Given the description of an element on the screen output the (x, y) to click on. 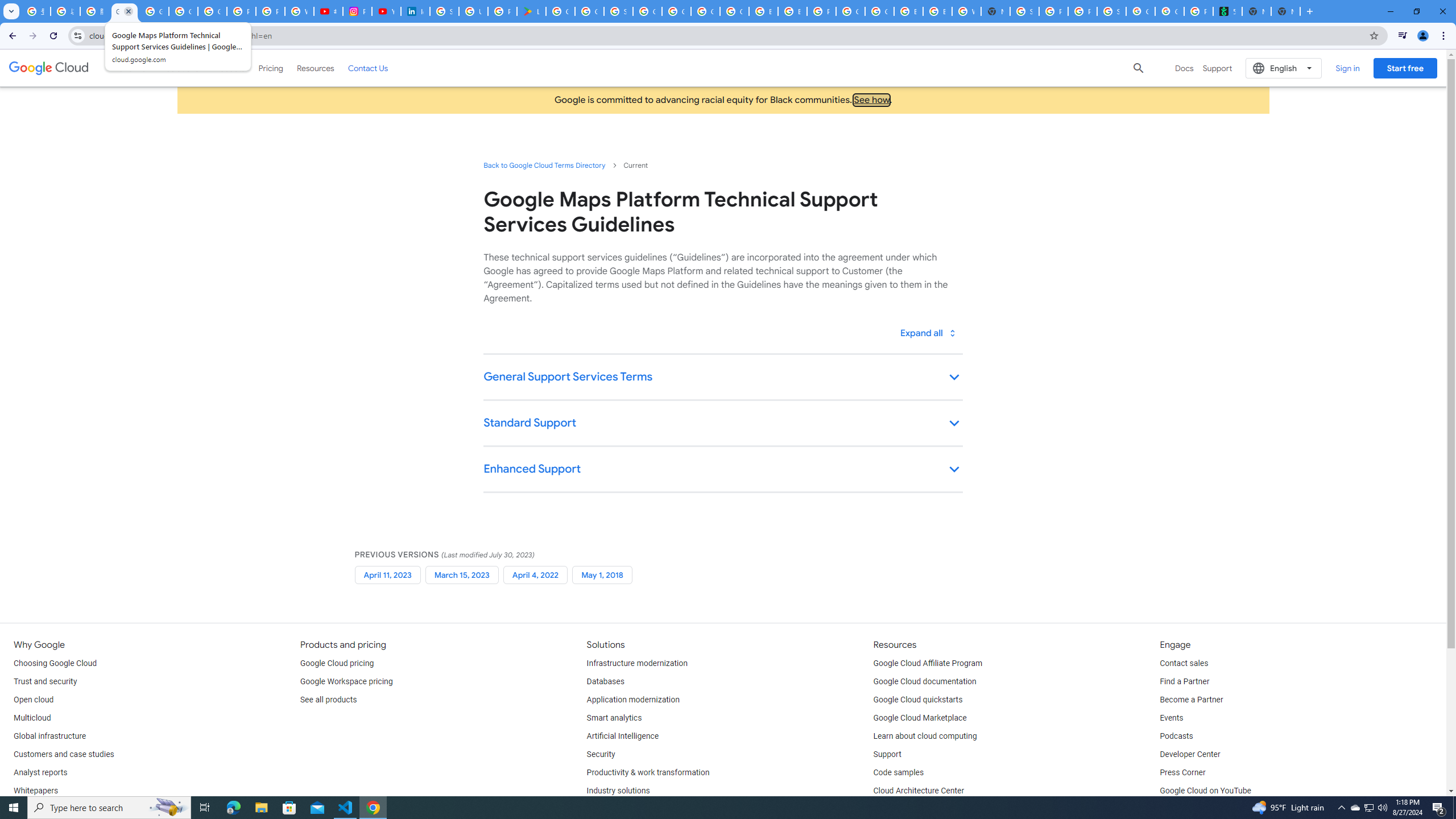
Products (228, 67)
Docs (1183, 67)
General Support Services Terms keyboard_arrow_down (722, 377)
Whitepapers (35, 791)
Events (1170, 718)
Sign in - Google Accounts (617, 11)
May 1, 2018 (601, 574)
Start free (1405, 67)
Standard Support keyboard_arrow_down (722, 424)
Infrastructure modernization (637, 663)
Smart analytics (614, 718)
Back to Google Cloud Terms Directory (544, 165)
